Given the description of an element on the screen output the (x, y) to click on. 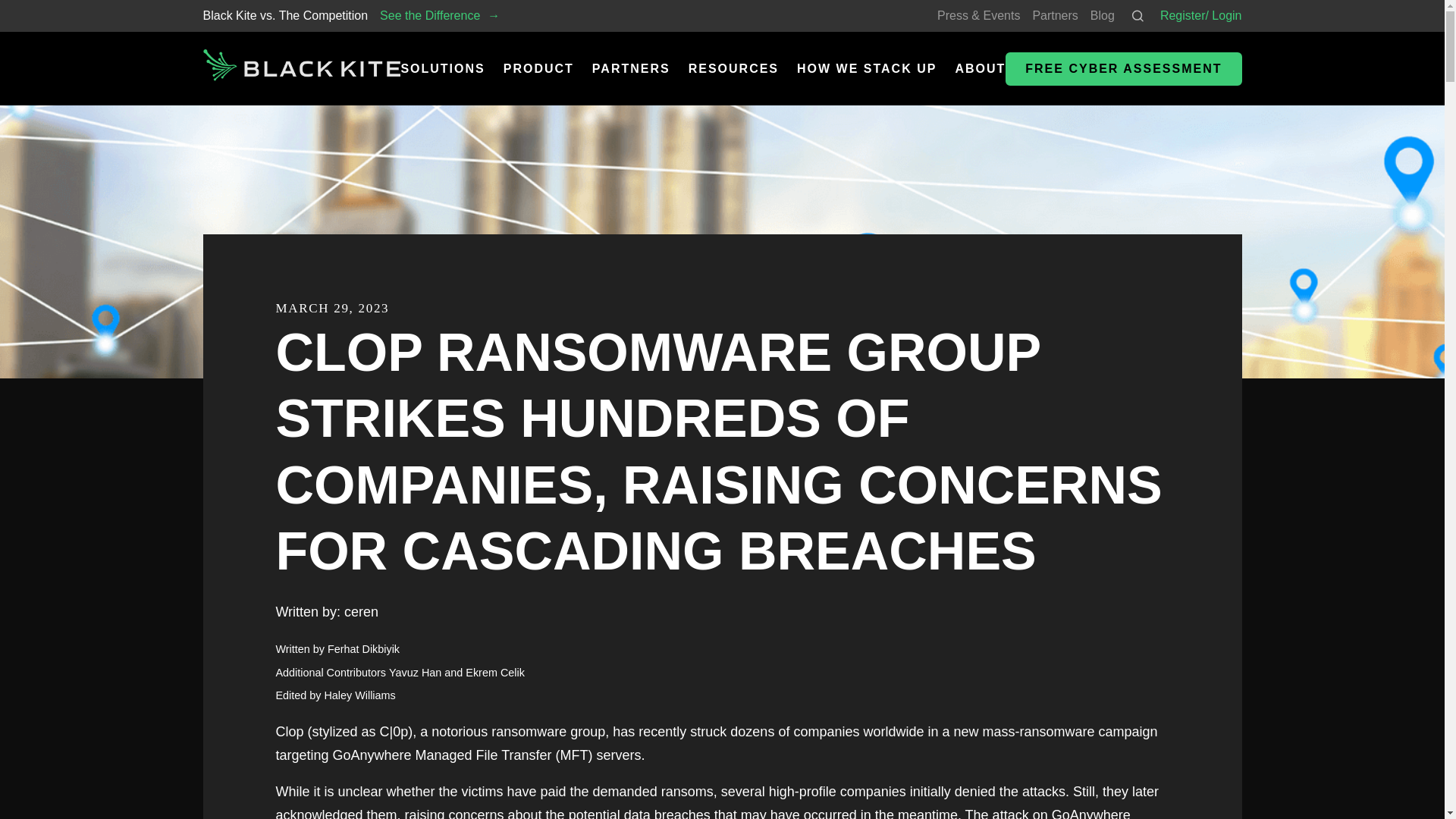
PRODUCT (538, 68)
See the Difference (439, 14)
Partners (1054, 15)
SOLUTIONS (442, 68)
PARTNERS (630, 68)
Blog (1102, 15)
RESOURCES (733, 68)
